Given the description of an element on the screen output the (x, y) to click on. 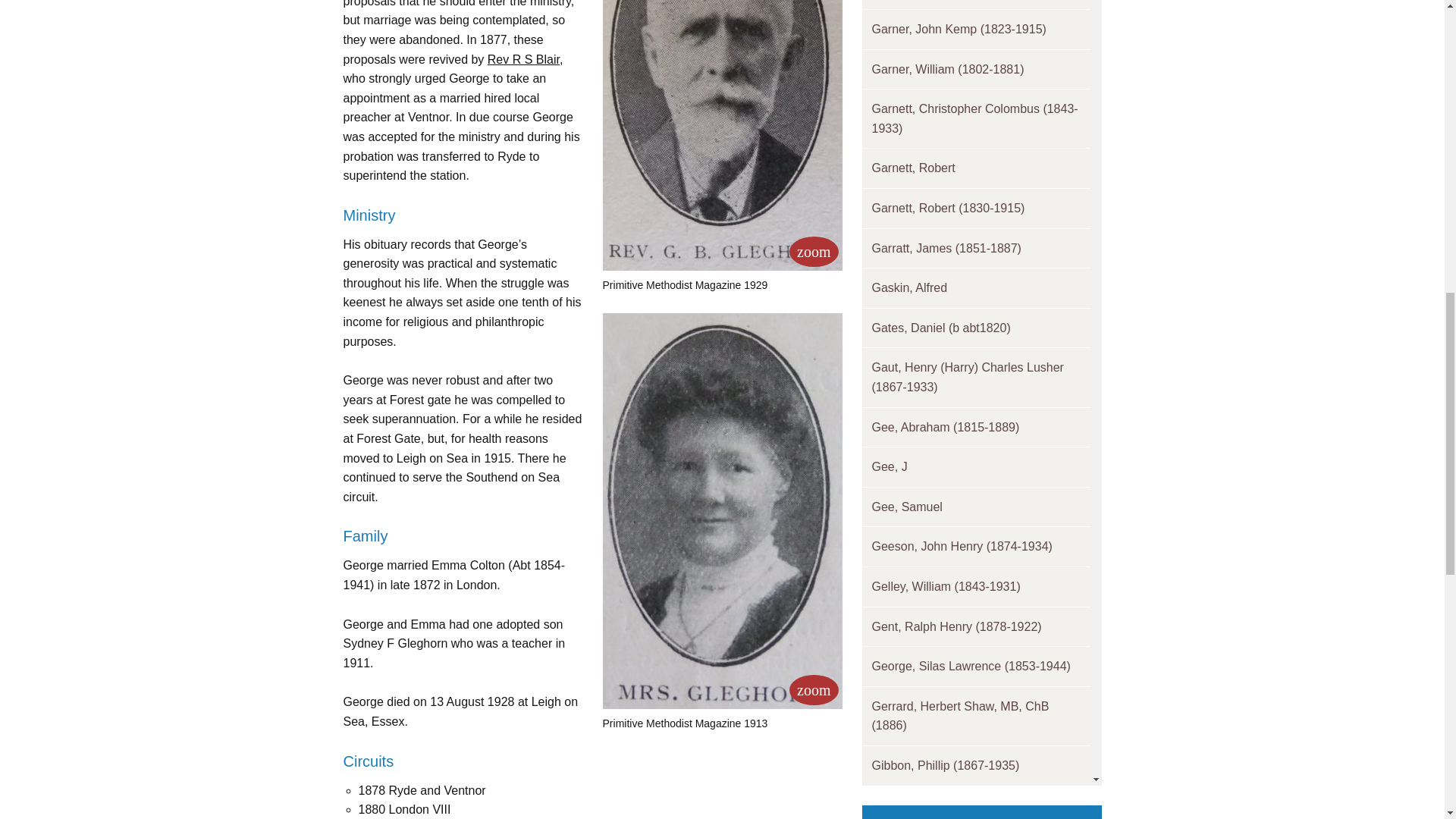
Rev R S Blair (523, 59)
zoom (813, 251)
Primitive Methodist Magazine 1913 (813, 689)
Primitive Methodist Magazine 1929 (813, 251)
zoom (813, 689)
